Given the description of an element on the screen output the (x, y) to click on. 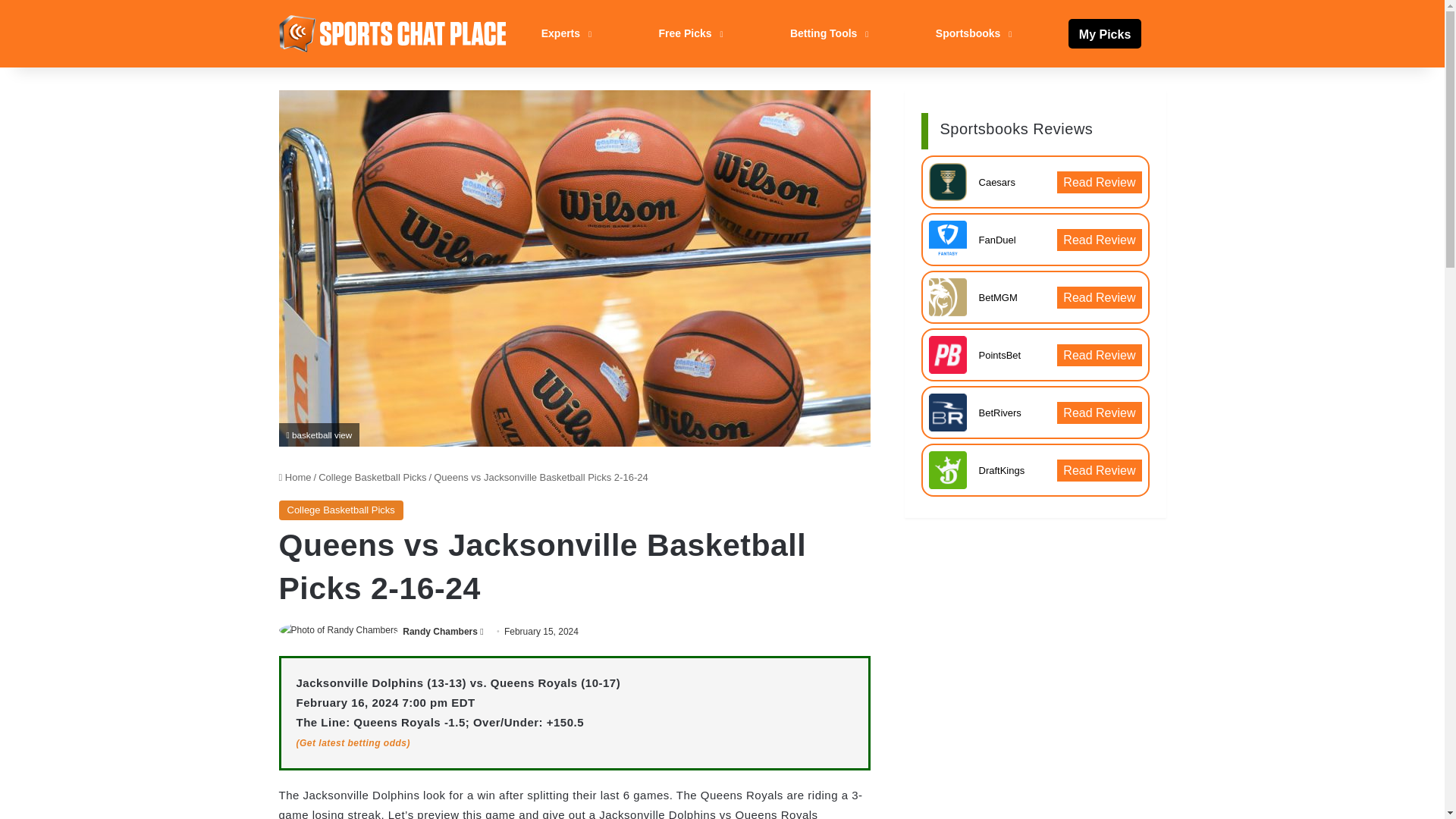
Sports Chat Place Picks, Betting News (392, 33)
Betting Tools (827, 33)
Randy Chambers (440, 631)
Experts (564, 33)
Free Picks (688, 33)
